Given the description of an element on the screen output the (x, y) to click on. 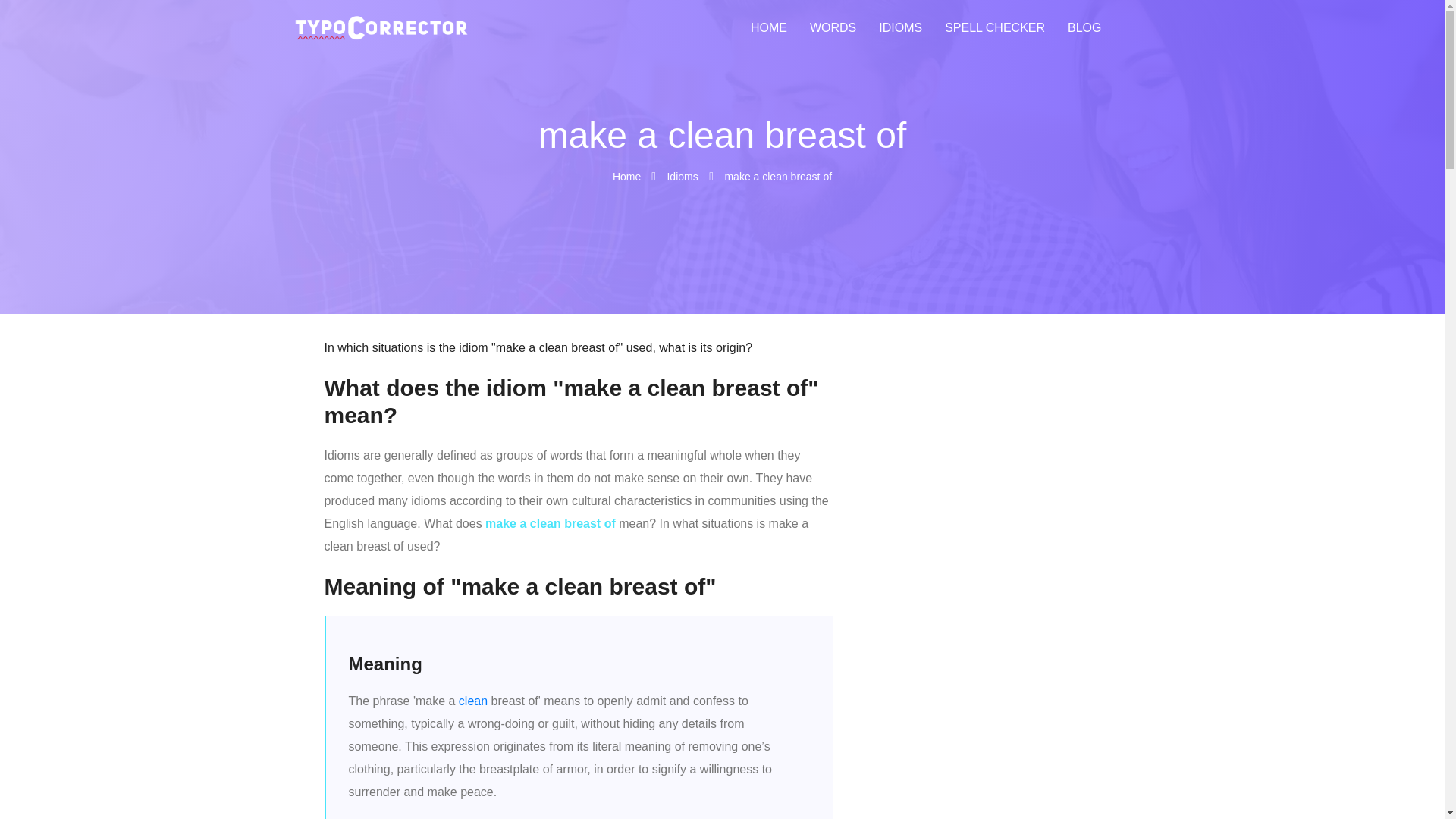
Meanings of English idioms (681, 176)
make a clean breast of (777, 176)
Home (627, 176)
IDIOMS (900, 28)
HOME (768, 28)
clean (472, 700)
All English idioms and their usage (900, 28)
BLOG (1083, 28)
Idioms (681, 176)
